Given the description of an element on the screen output the (x, y) to click on. 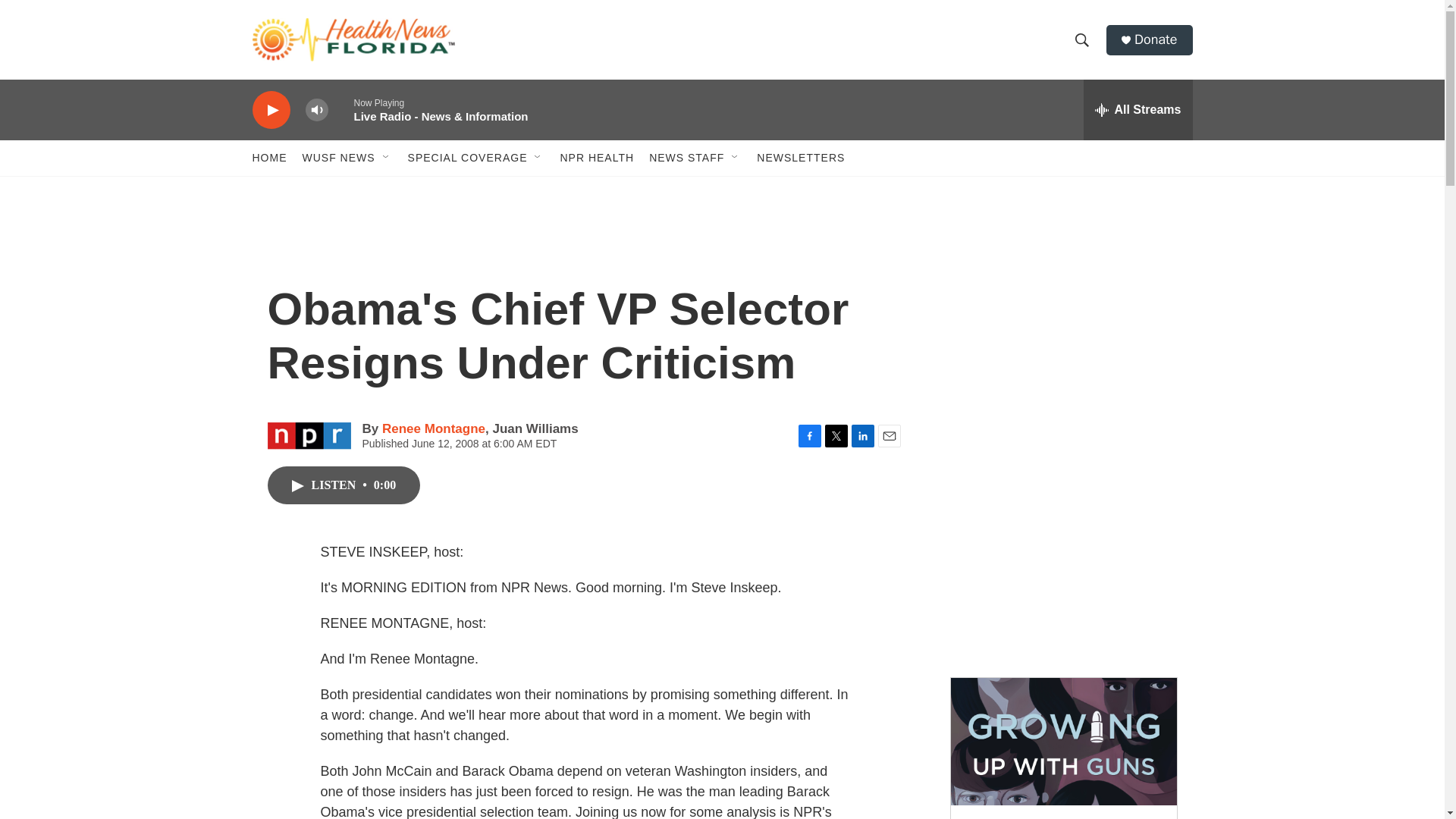
3rd party ad content (1062, 331)
3rd party ad content (1062, 552)
